Given the description of an element on the screen output the (x, y) to click on. 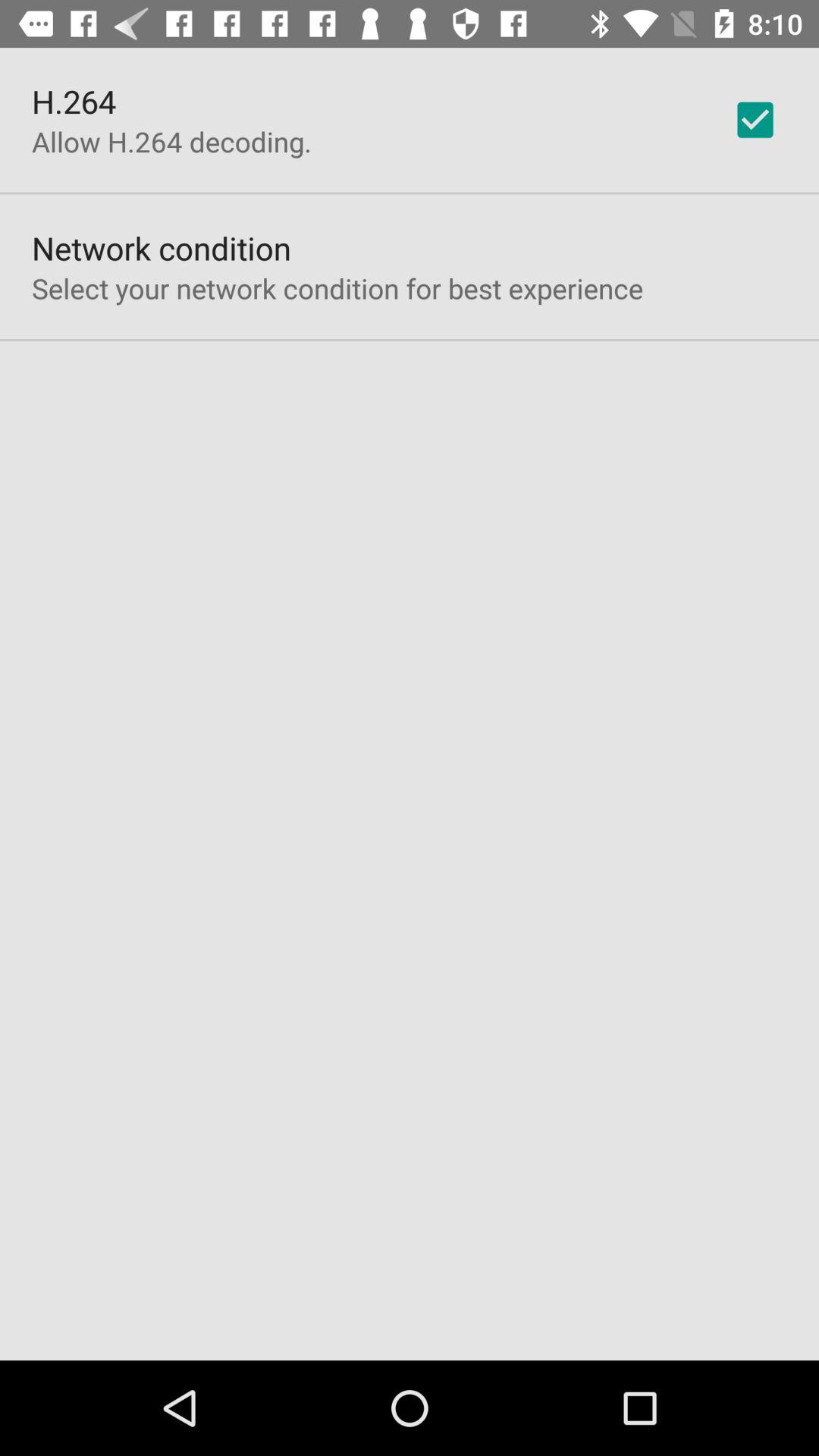
jump until the select your network item (337, 288)
